Given the description of an element on the screen output the (x, y) to click on. 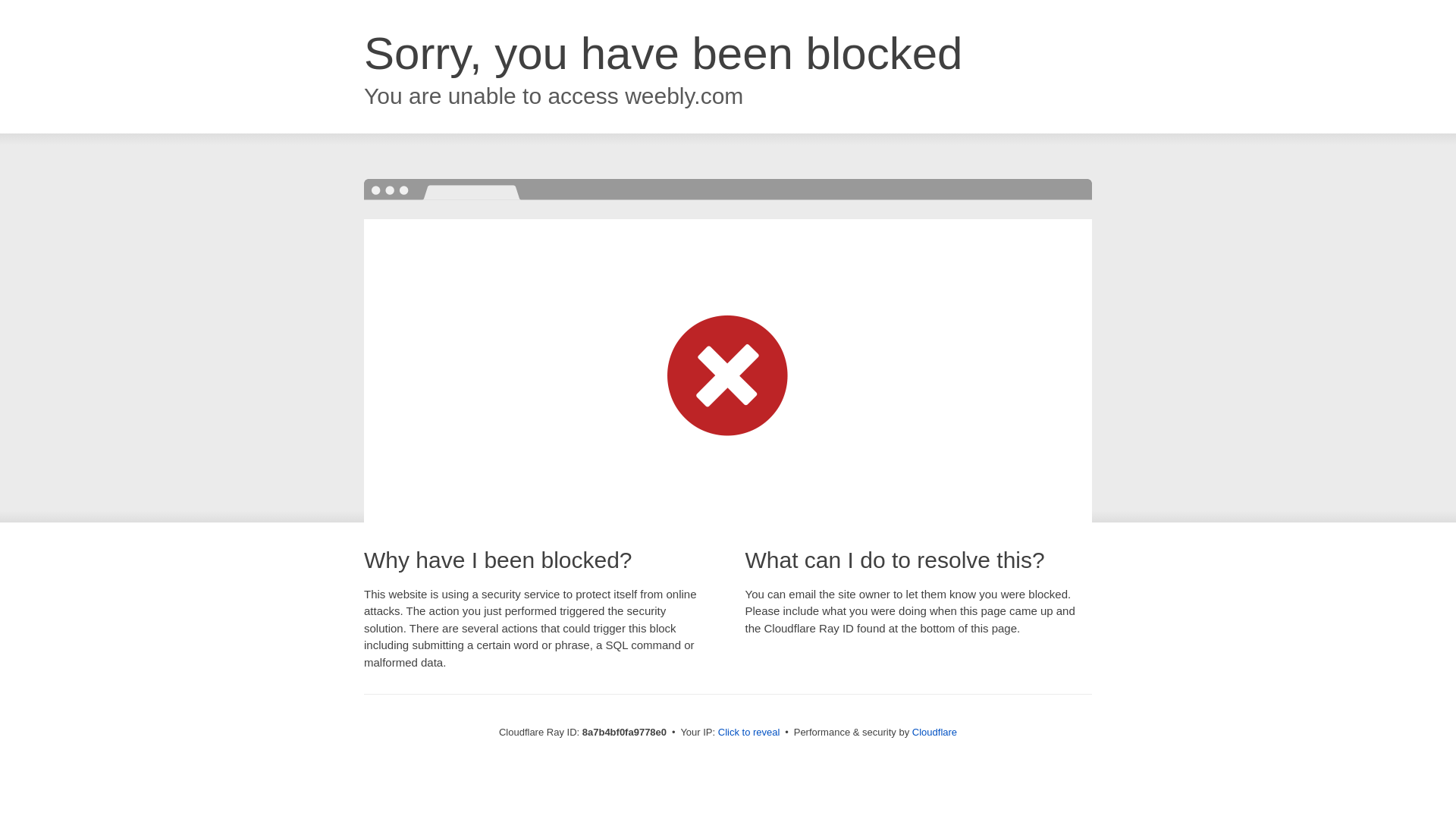
Click to reveal (748, 732)
Cloudflare (934, 731)
